Given the description of an element on the screen output the (x, y) to click on. 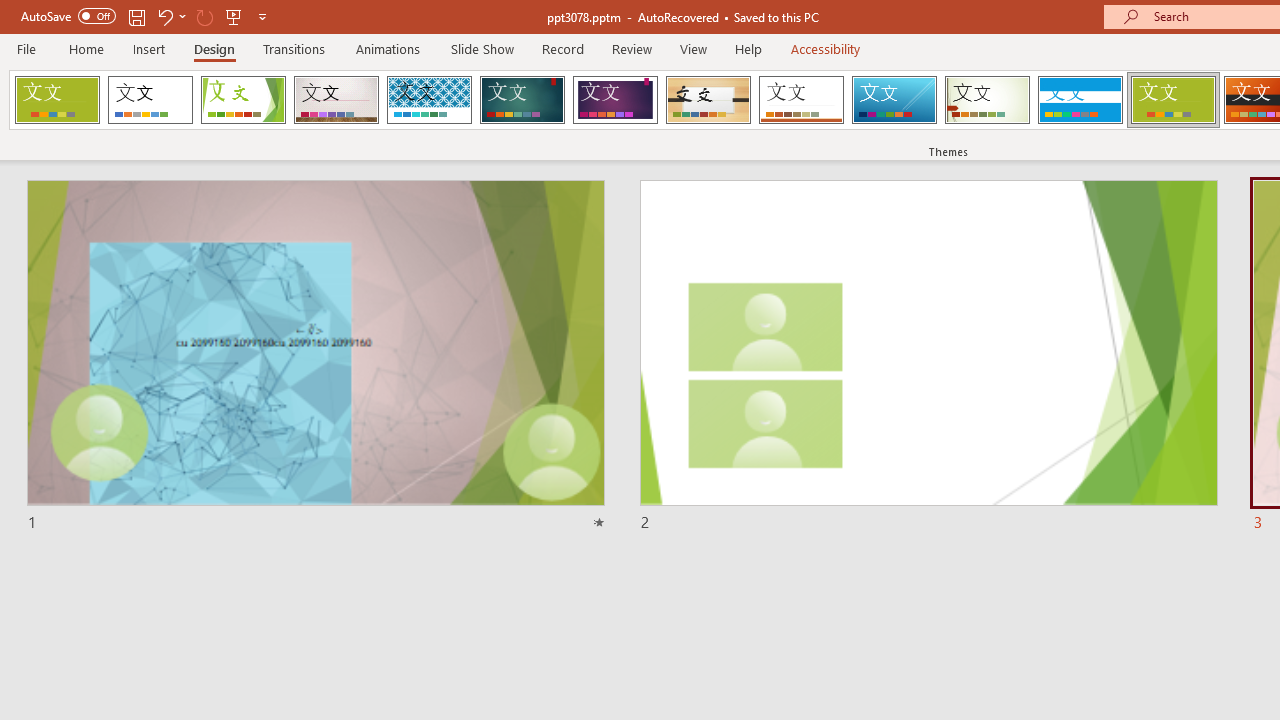
Facet (243, 100)
Ion (522, 100)
Gallery (336, 100)
Integral (429, 100)
Ion Boardroom (615, 100)
Slice (893, 100)
